Given the description of an element on the screen output the (x, y) to click on. 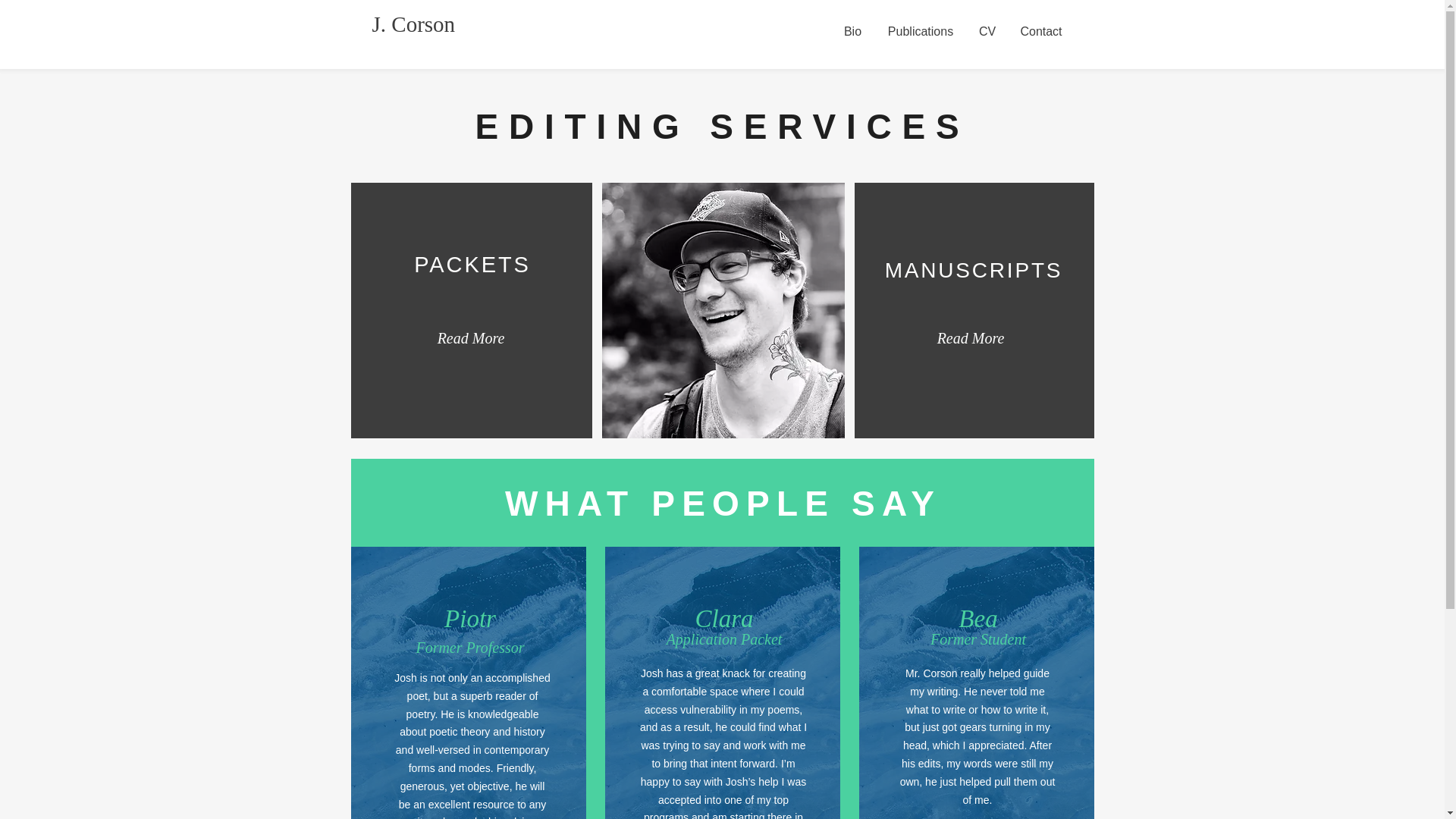
Bio (852, 31)
Contact (1040, 31)
Read More (971, 337)
Read More (470, 337)
Publications (919, 31)
J. Corson (412, 24)
CV (987, 31)
